Given the description of an element on the screen output the (x, y) to click on. 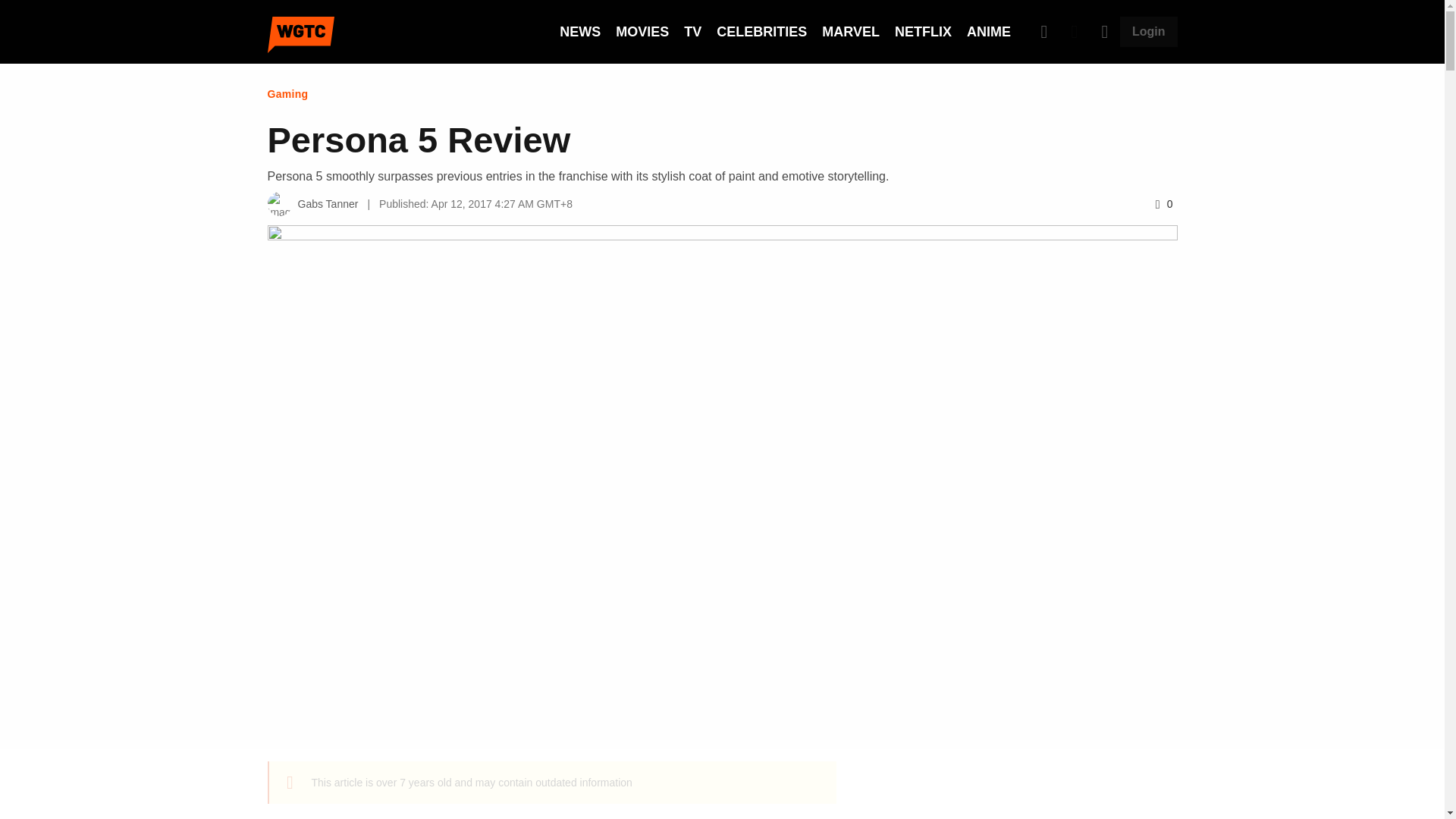
MOVIES (641, 31)
3rd party ad content (1024, 790)
Expand Menu (1104, 31)
ANIME (988, 31)
Search (1044, 31)
Dark Mode (1074, 31)
3rd party ad content (721, 785)
TV (692, 31)
NETFLIX (923, 31)
CELEBRITIES (761, 31)
Login (1148, 31)
MARVEL (850, 31)
NEWS (579, 31)
